Given the description of an element on the screen output the (x, y) to click on. 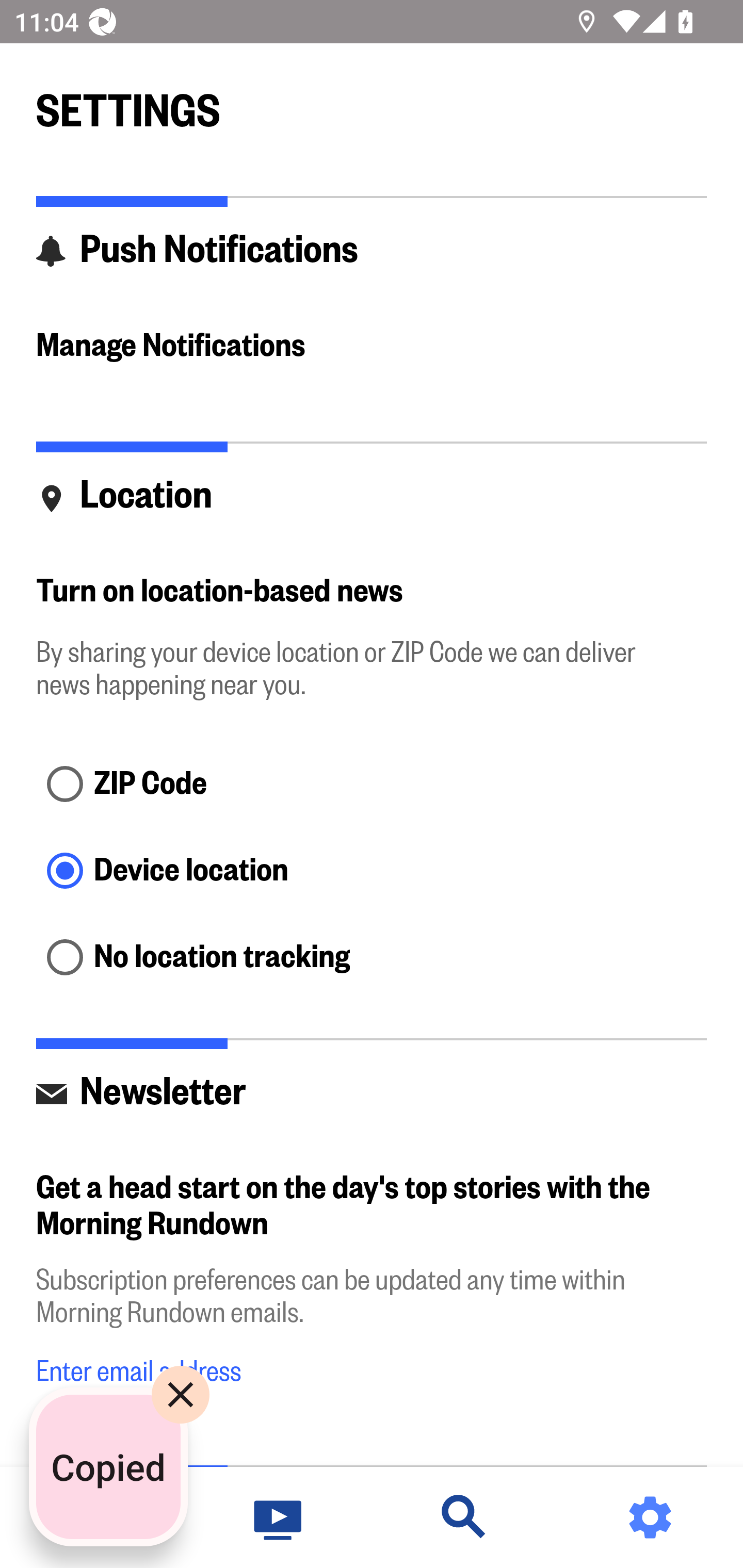
SETTINGS (371, 101)
Manage Notifications (371, 346)
ZIP Code (371, 785)
Device location (371, 872)
No location tracking (371, 958)
Watch (278, 1517)
Discover (464, 1517)
